Given the description of an element on the screen output the (x, y) to click on. 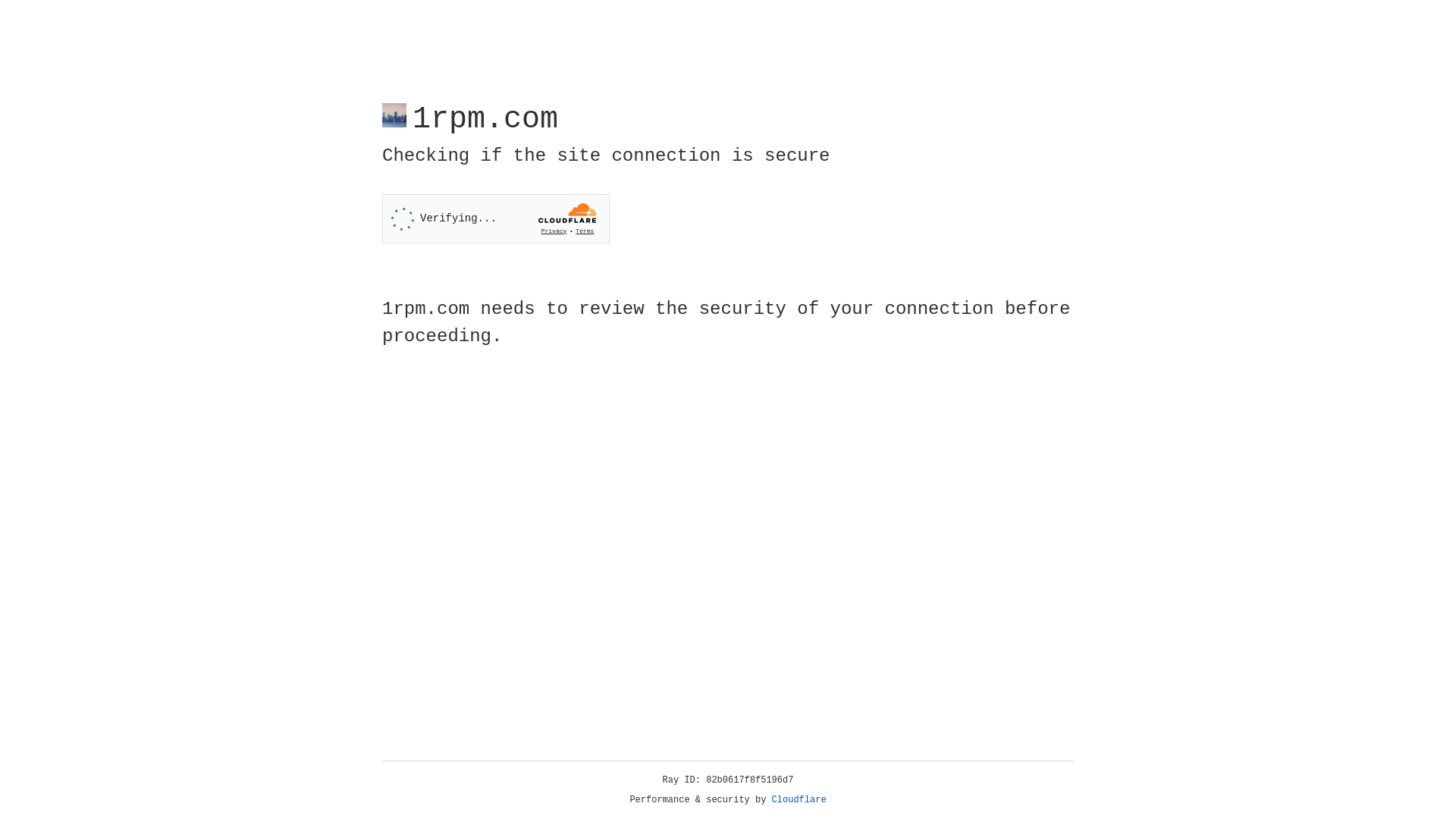
Cloudflare Element type: text (798, 799)
Widget containing a Cloudflare security challenge Element type: hover (495, 218)
